Given the description of an element on the screen output the (x, y) to click on. 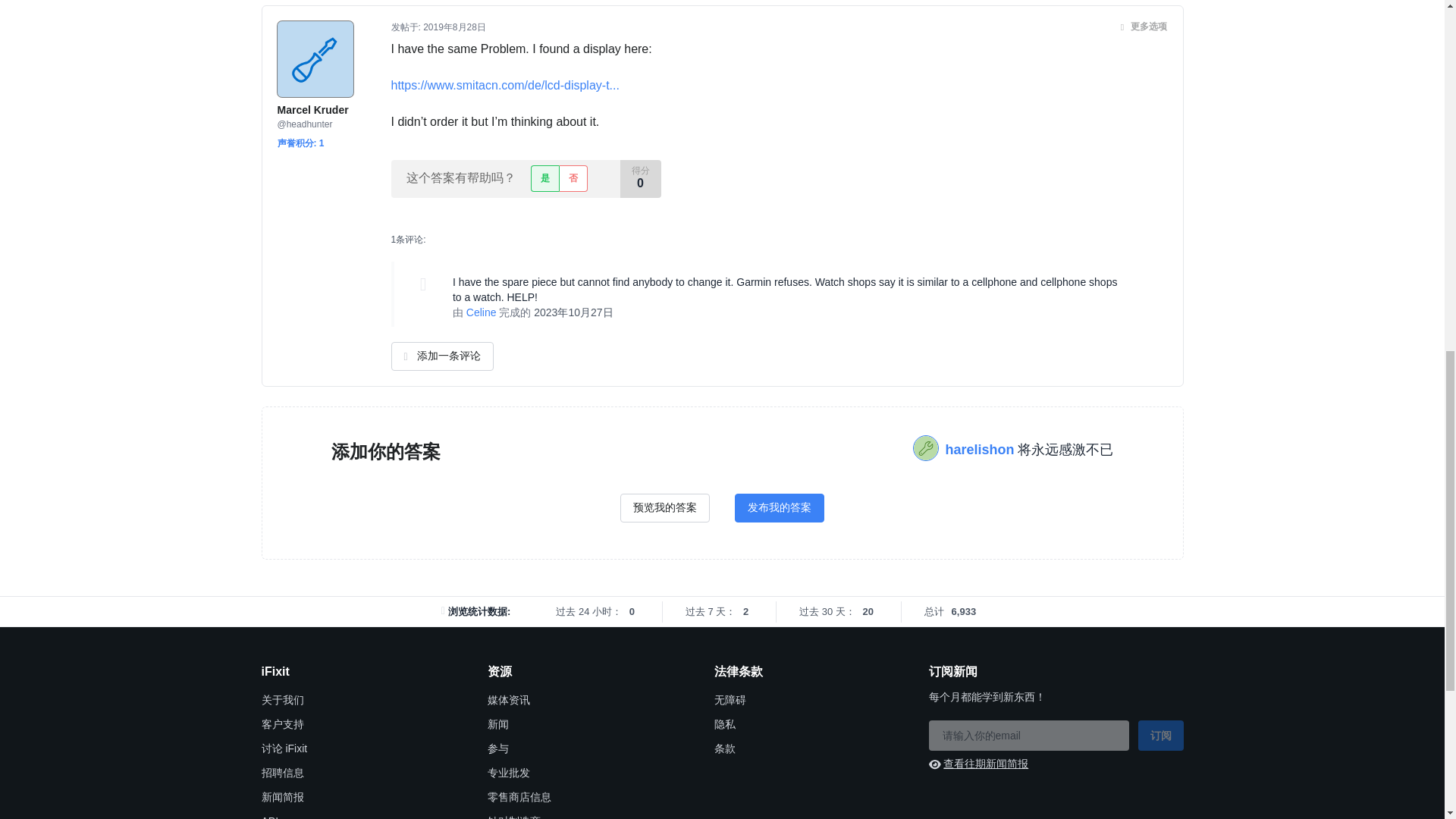
Wed, 28 Aug 2019 00:36:42 -0700 (454, 27)
Fri, 27 Oct 2023 13:50:49 -0700 (573, 312)
